Given the description of an element on the screen output the (x, y) to click on. 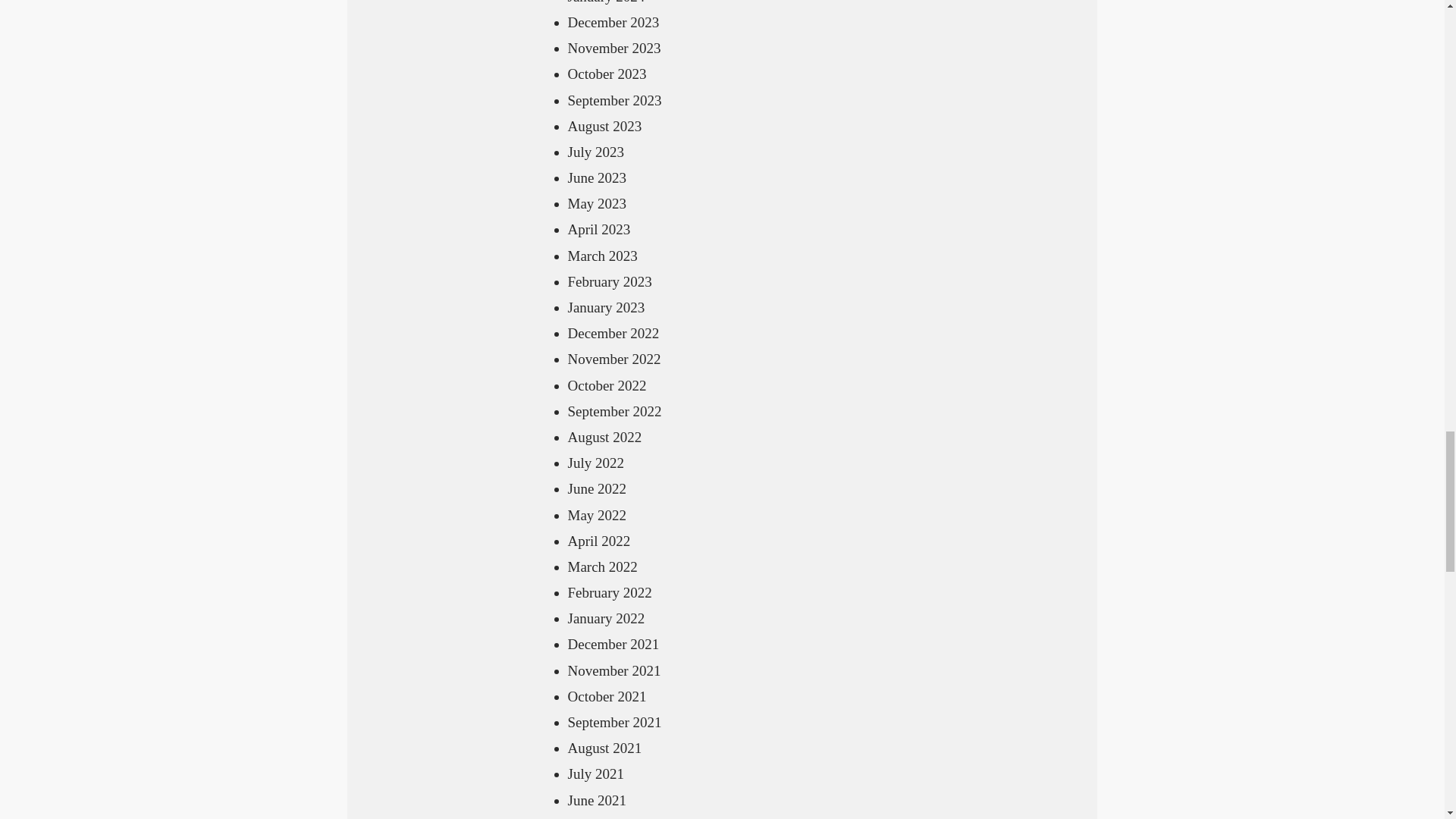
December 2023 (613, 22)
August 2023 (604, 125)
September 2022 (614, 411)
April 2023 (598, 229)
January 2023 (606, 307)
December 2022 (613, 333)
November 2022 (614, 358)
November 2023 (614, 48)
March 2023 (602, 255)
January 2024 (606, 2)
